Given the description of an element on the screen output the (x, y) to click on. 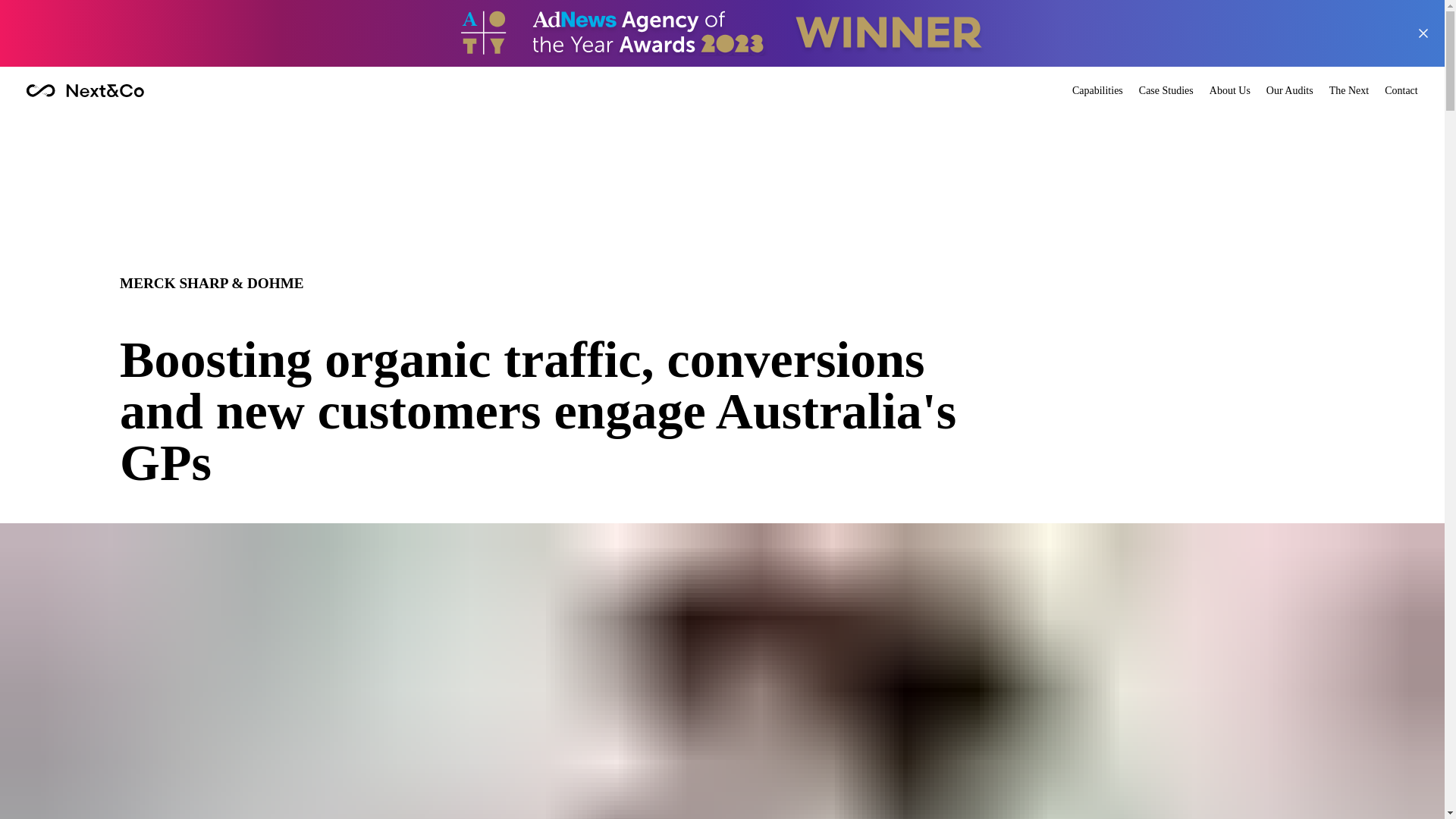
The Next (1348, 90)
About Us (1229, 90)
Case Studies (1165, 90)
Logo (85, 90)
Capabilities (1096, 90)
Contact (1401, 90)
Our Audits (1289, 90)
